Given the description of an element on the screen output the (x, y) to click on. 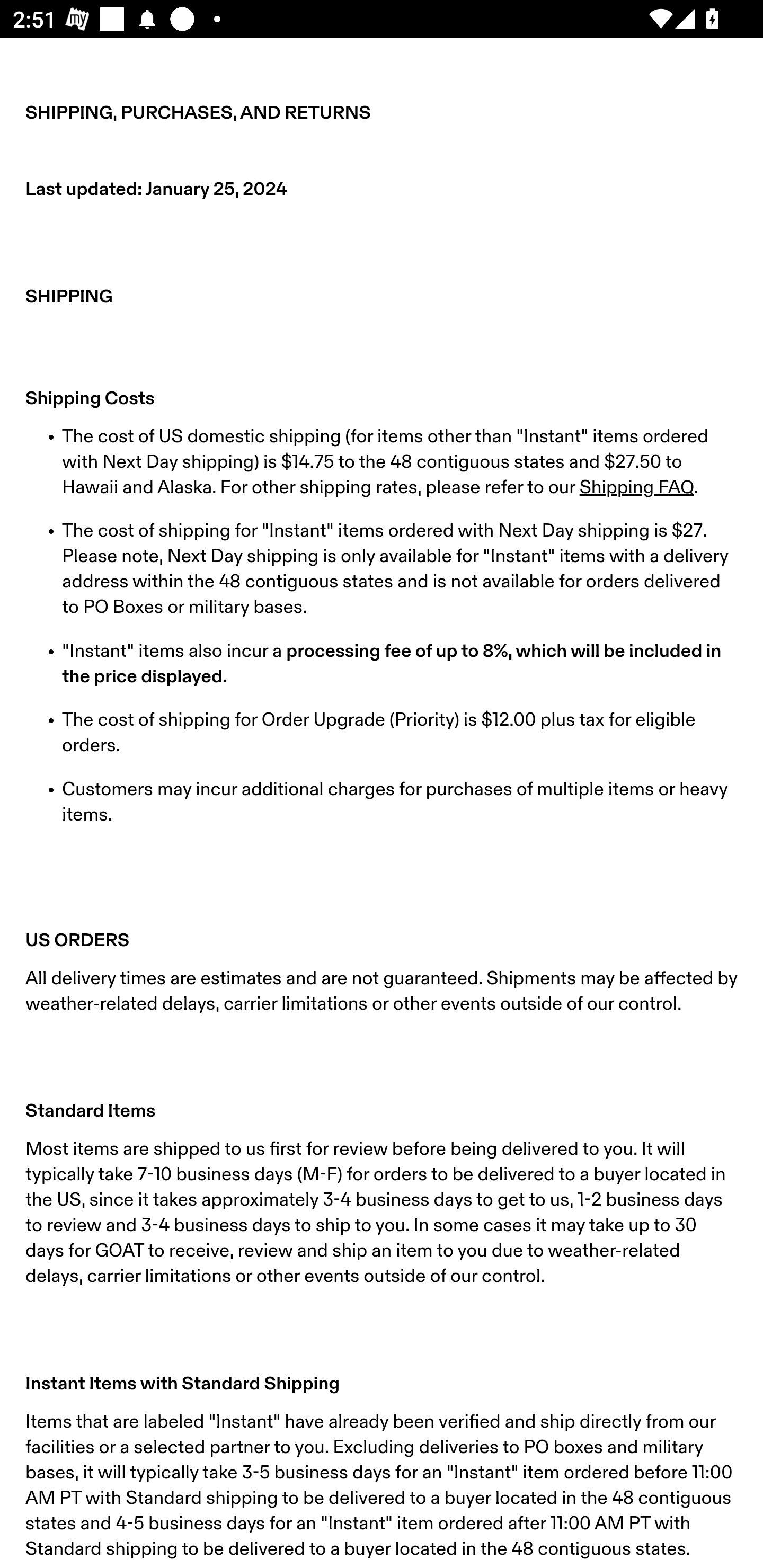
Shipping FAQ (636, 487)
